Given the description of an element on the screen output the (x, y) to click on. 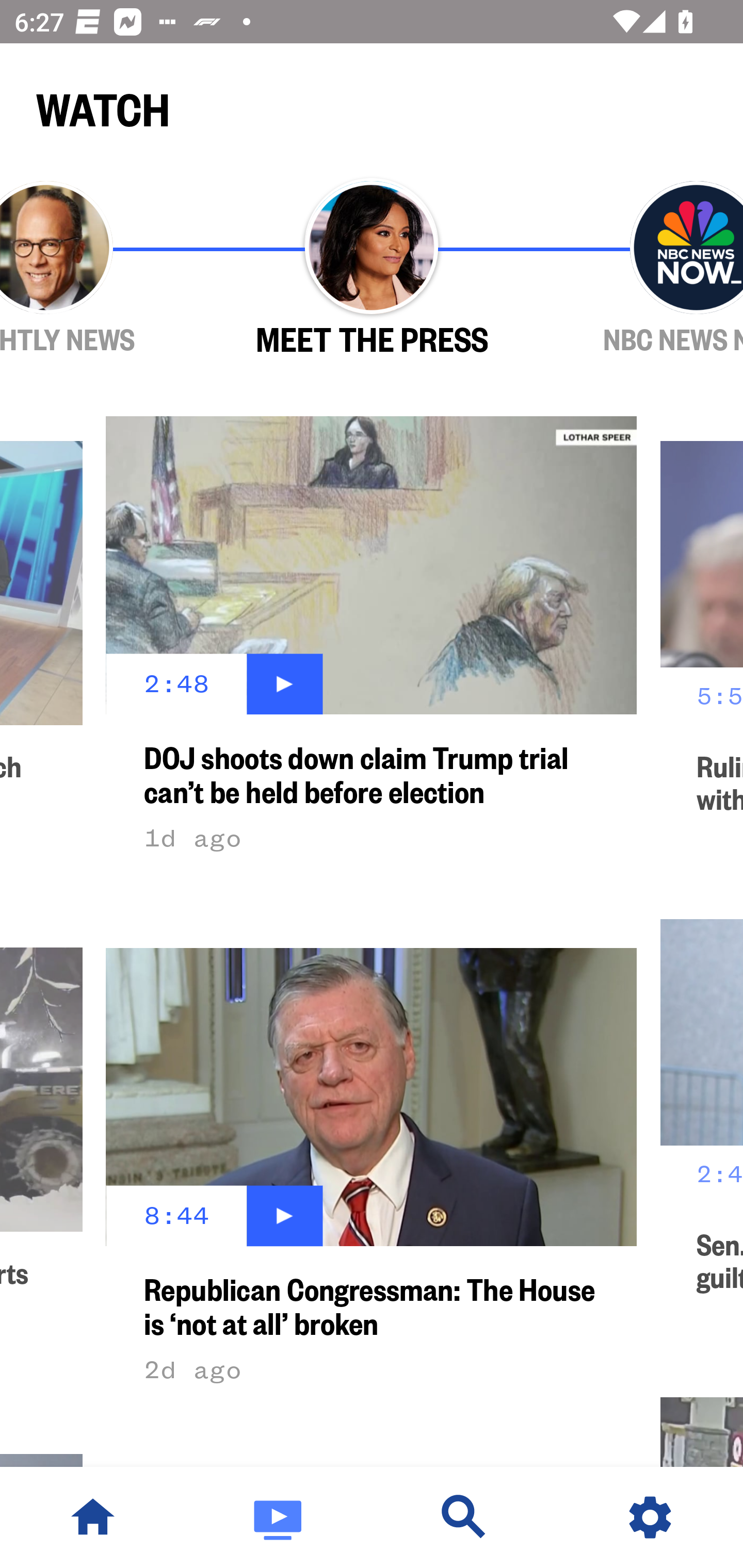
NIGHTLY NEWS (104, 268)
MEET THE PRESS (371, 268)
NBC NEWS NOW (638, 268)
NBC News Home (92, 1517)
Discover (464, 1517)
Settings (650, 1517)
